Given the description of an element on the screen output the (x, y) to click on. 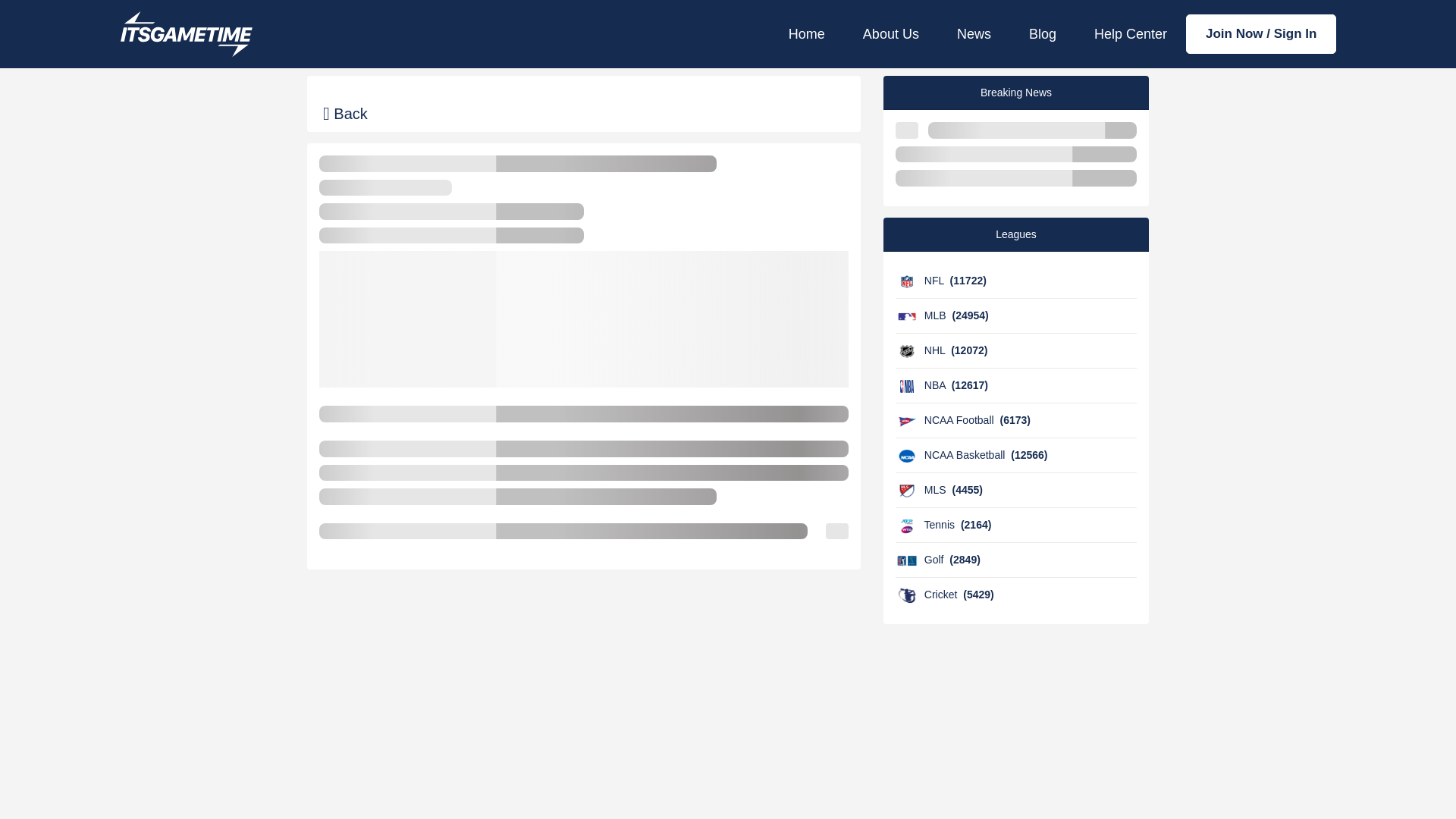
Help Center (1130, 33)
Back (345, 113)
About Us (890, 33)
Home (807, 33)
News (973, 33)
Blog (1042, 33)
